Given the description of an element on the screen output the (x, y) to click on. 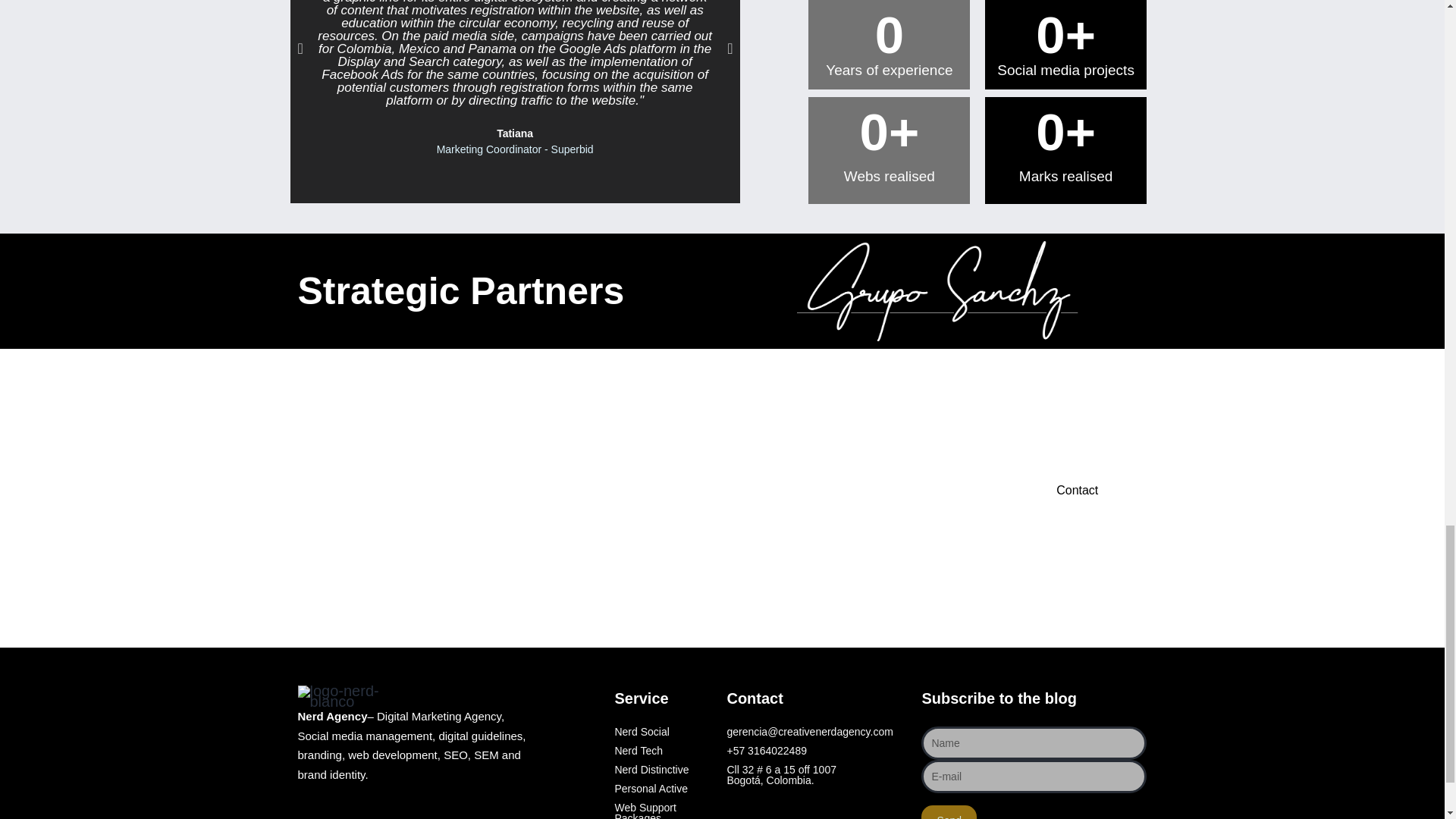
Contact (1081, 490)
Nerd Tech (662, 750)
Personal Active (662, 787)
Web Support Packages (662, 810)
Nerd Social (662, 731)
logo-nerd-blanco (356, 695)
Nerd Distinctive (662, 769)
Send (948, 812)
